Given the description of an element on the screen output the (x, y) to click on. 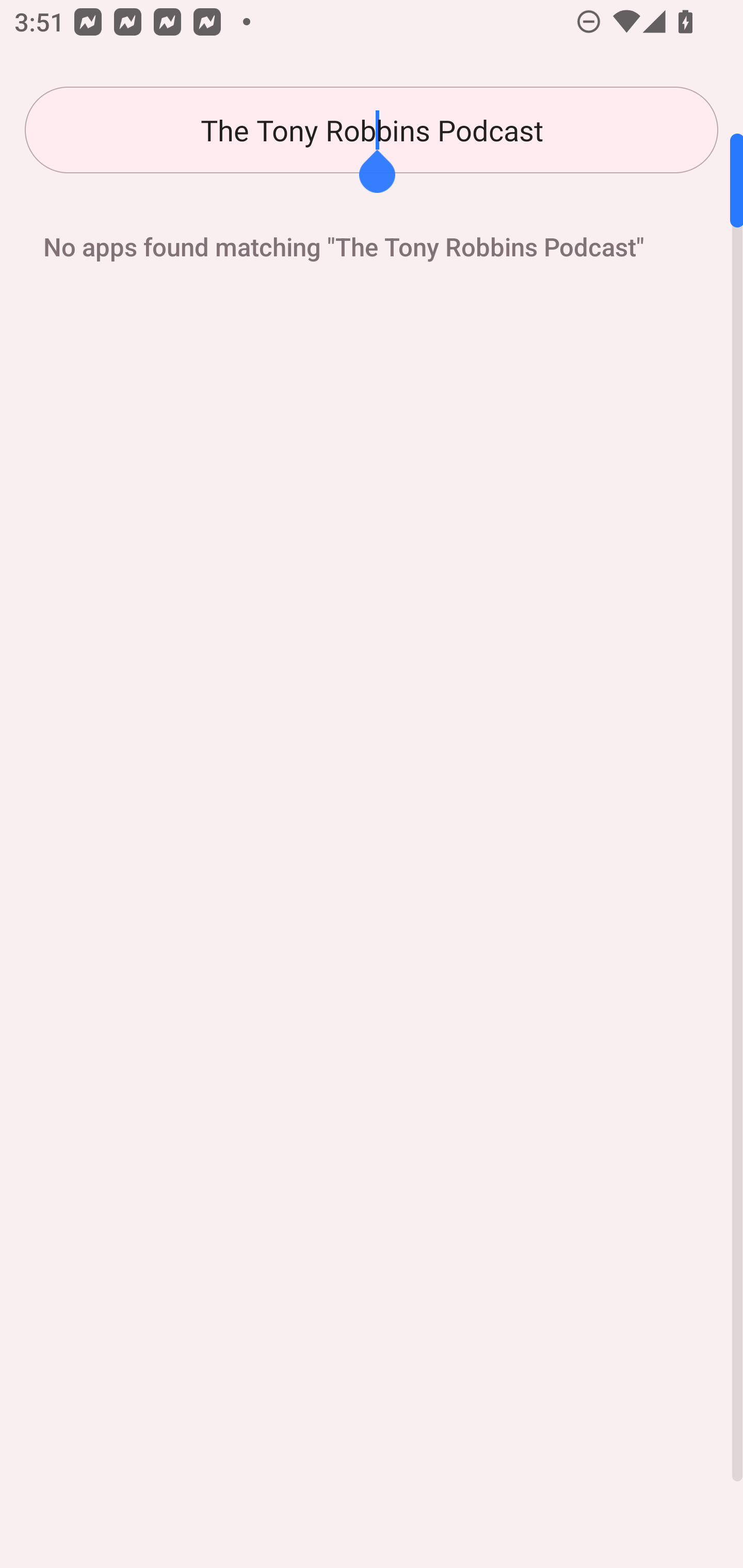
The Tony Robbins Podcast (371, 130)
